Given the description of an element on the screen output the (x, y) to click on. 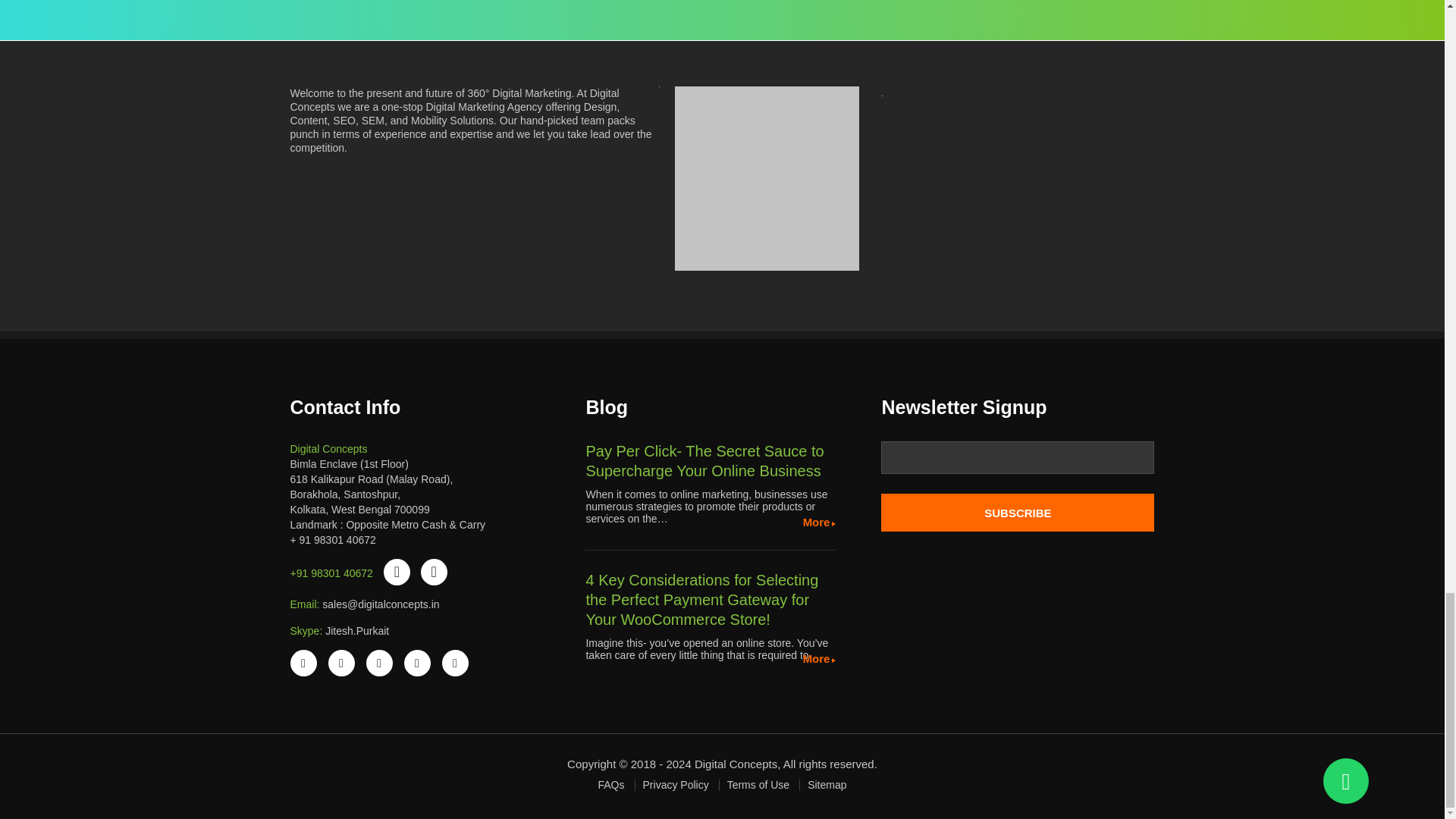
Read Our Interview on GoodFirms (767, 178)
Subscribe (1017, 512)
